Given the description of an element on the screen output the (x, y) to click on. 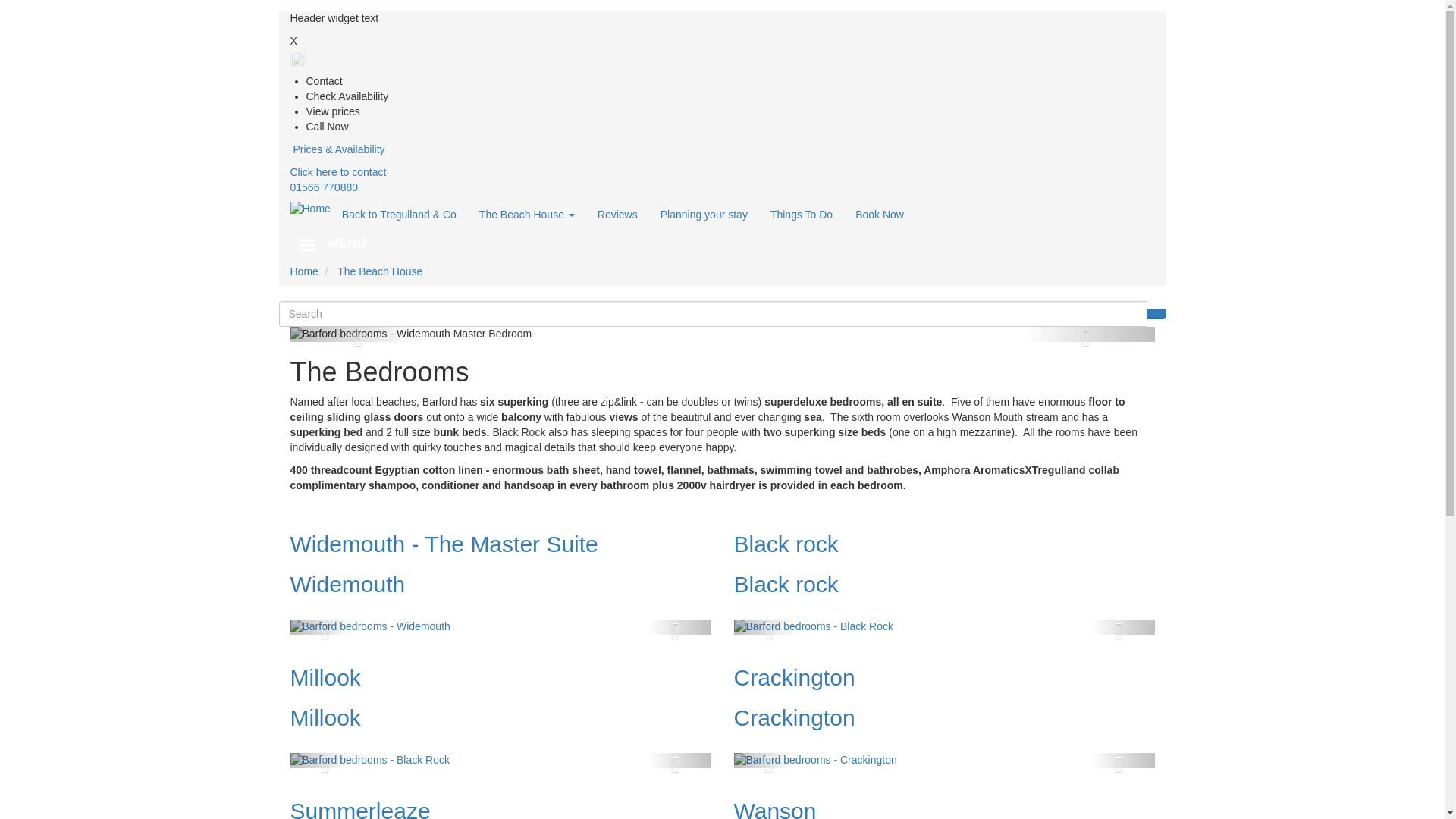
Planning your stay (703, 214)
Menu (306, 246)
Things To Do (801, 214)
Home (309, 209)
Book Now (879, 214)
Reviews (337, 179)
The Beach House (617, 214)
